Given the description of an element on the screen output the (x, y) to click on. 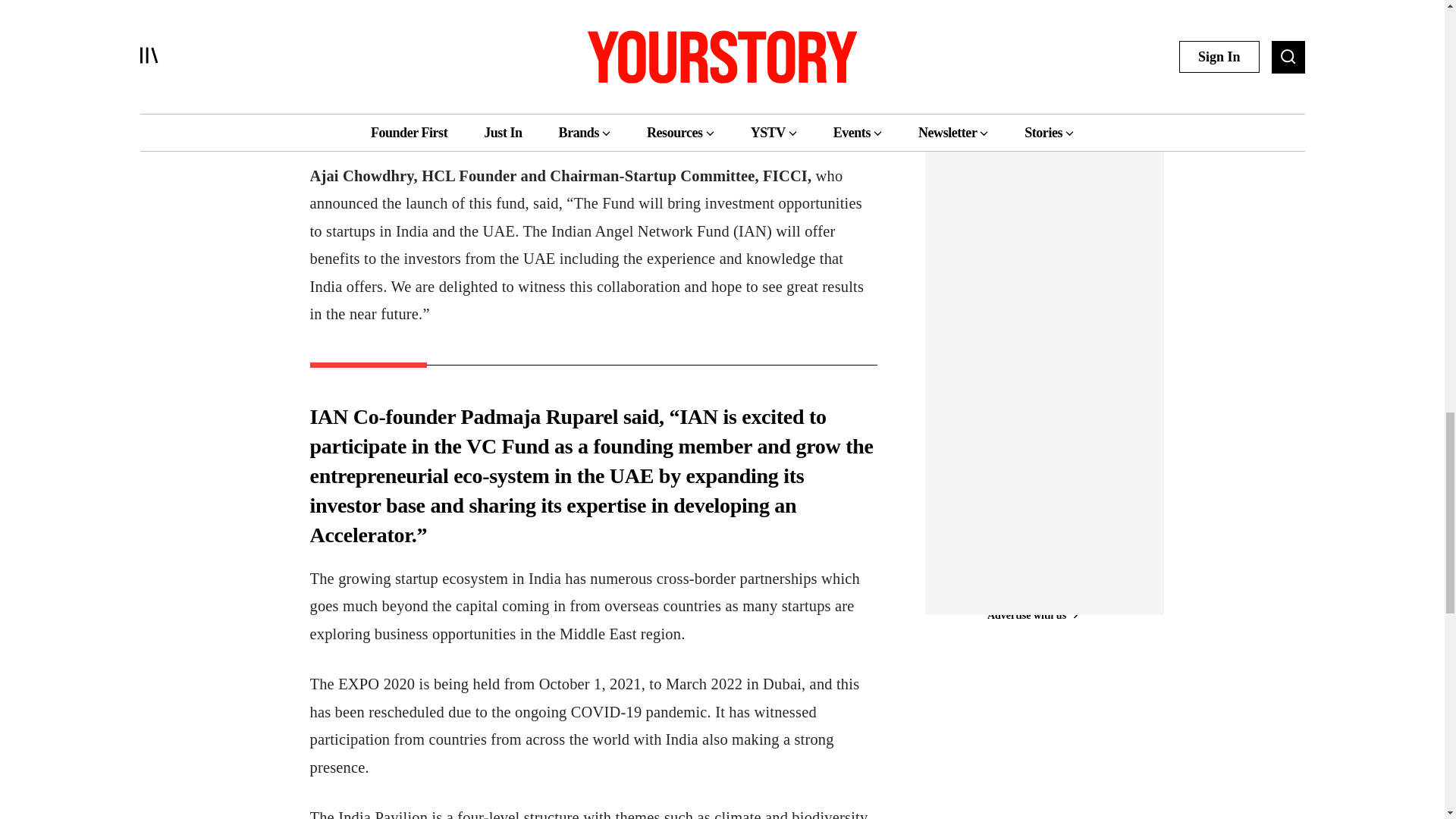
Advertise with us (1032, 615)
Grok 2 AI: Elon'S Game-Changing AI Image Generator (1012, 74)
Advertise with us (1032, 128)
ARTIFICIAL INTELLIGENCE (994, 26)
